Given the description of an element on the screen output the (x, y) to click on. 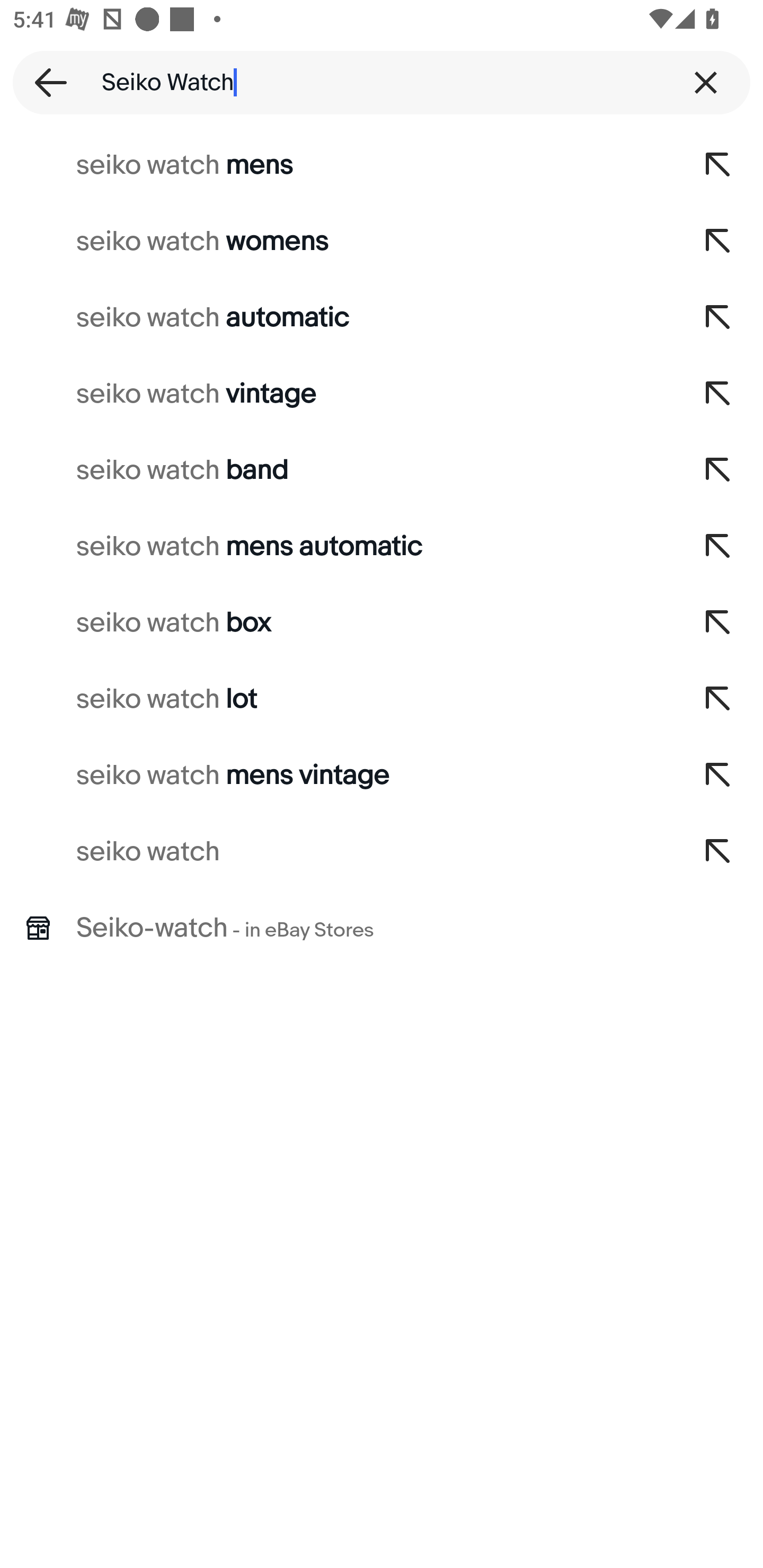
Back (44, 82)
Clear query (705, 82)
Seiko Watch (381, 82)
seiko watch mens (336, 165)
Add to search query,seiko watch mens (718, 165)
seiko watch womens (336, 241)
Add to search query,seiko watch womens (718, 241)
seiko watch automatic (336, 317)
Add to search query,seiko watch automatic (718, 317)
seiko watch vintage (336, 393)
Add to search query,seiko watch vintage (718, 393)
seiko watch band (336, 470)
Add to search query,seiko watch band (718, 470)
seiko watch mens automatic (336, 546)
Add to search query,seiko watch mens automatic (718, 546)
seiko watch box (336, 622)
Add to search query,seiko watch box (718, 622)
seiko watch lot (336, 698)
Add to search query,seiko watch lot (718, 698)
seiko watch mens vintage (336, 774)
Add to search query,seiko watch mens vintage (718, 774)
seiko watch (336, 851)
Add to search query,seiko watch (718, 851)
Seiko-watch - in eBay Stores Store search (381, 927)
